Given the description of an element on the screen output the (x, y) to click on. 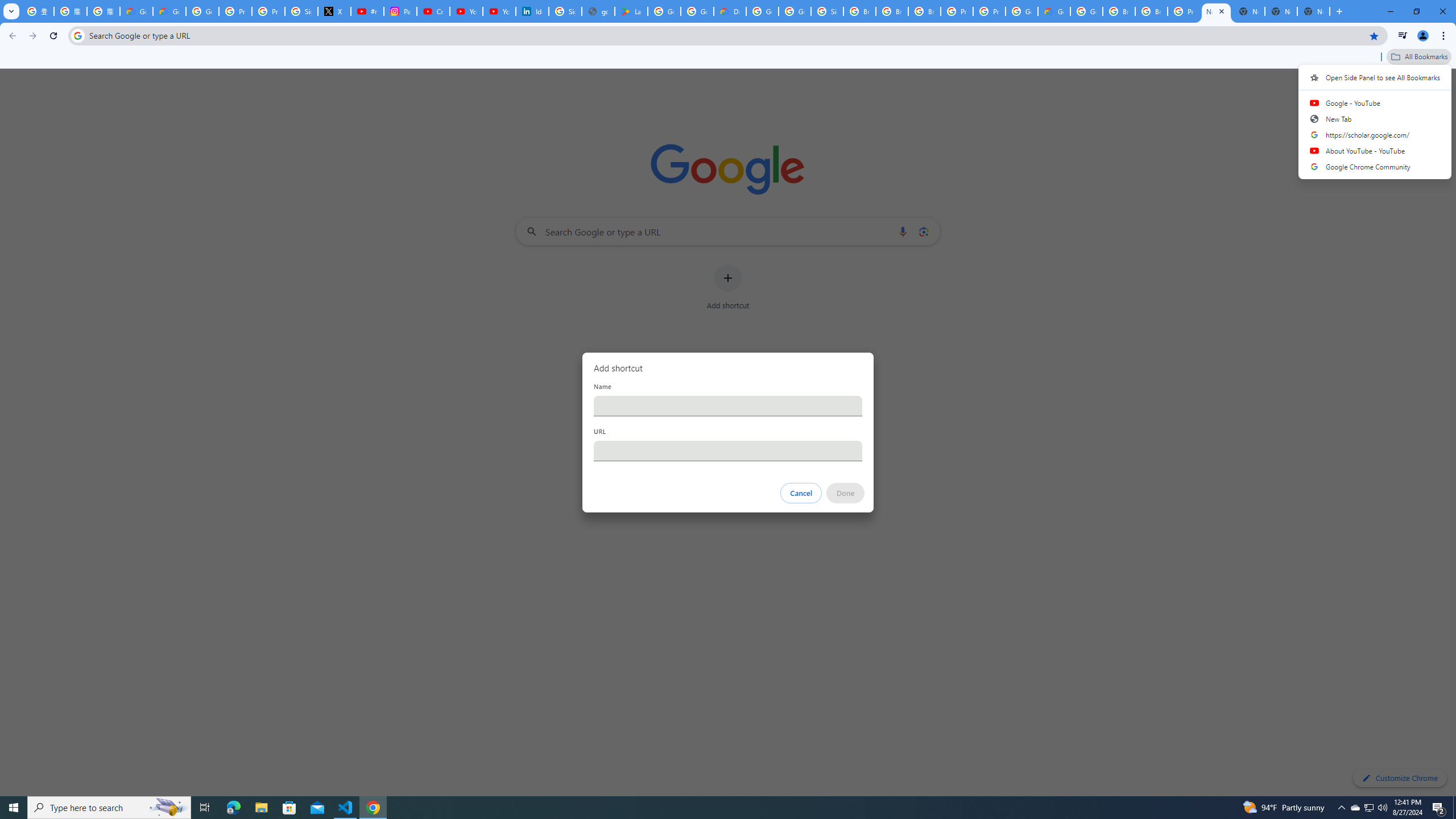
Forward (32, 35)
Name (727, 405)
google_privacy_policy_en.pdf (598, 11)
All Bookmarks (1418, 56)
Google Cloud Platform (762, 11)
Google Cloud Privacy Notice (136, 11)
Done (845, 493)
Browse Chrome as a guest - Computer - Google Chrome Help (1150, 11)
About YouTube - YouTube (1374, 150)
System (6, 6)
Sign in - Google Accounts (301, 11)
